Given the description of an element on the screen output the (x, y) to click on. 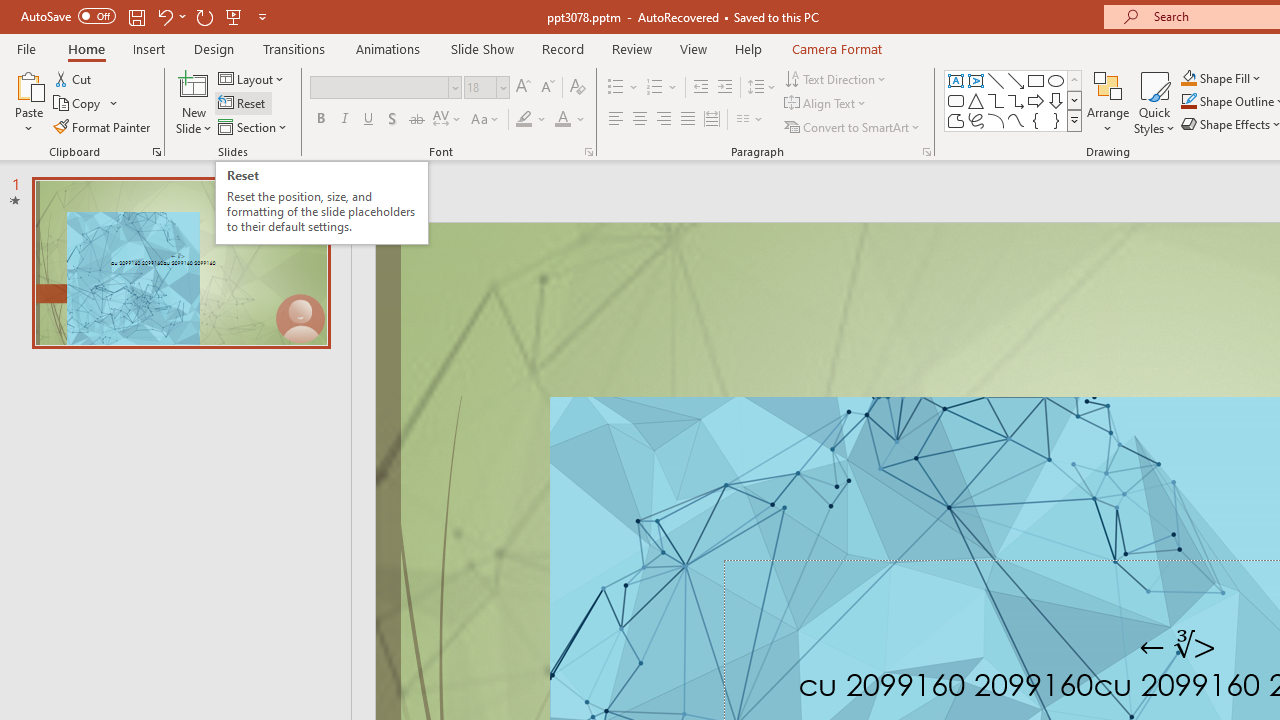
Arc (995, 120)
Row up (1074, 79)
Format Painter (103, 126)
Numbering (661, 87)
Increase Font Size (522, 87)
Numbering (654, 87)
Left Brace (1035, 120)
Font Color Red (562, 119)
Font Color (569, 119)
Arrow: Right (1035, 100)
Open (502, 87)
Line Arrow (1016, 80)
Camera Format (836, 48)
